Given the description of an element on the screen output the (x, y) to click on. 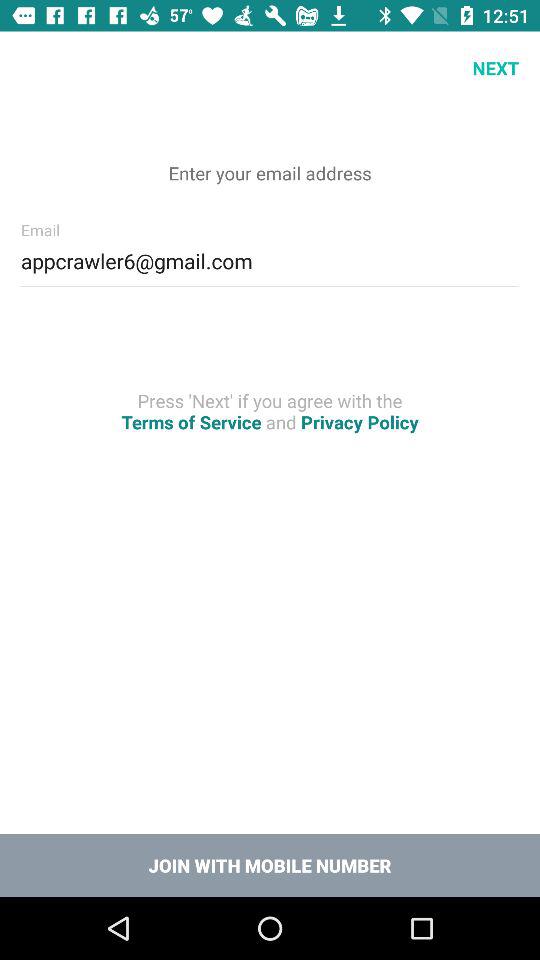
launch the item below the press next if (270, 864)
